Given the description of an element on the screen output the (x, y) to click on. 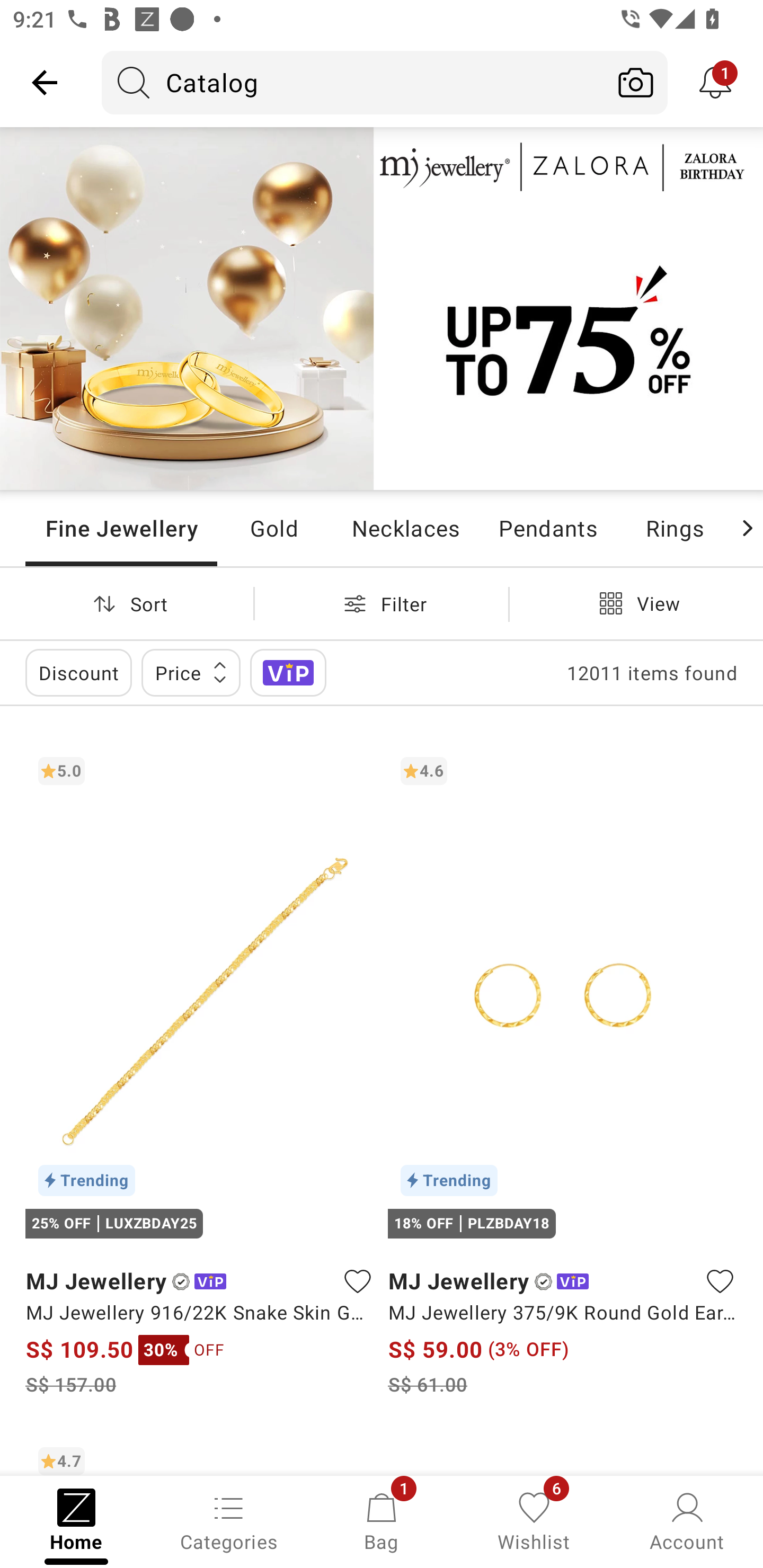
Navigate up (44, 82)
Catalog (352, 82)
Gold (274, 527)
Necklaces (405, 527)
Pendants (548, 527)
Rings (674, 527)
Sort (126, 603)
Filter (381, 603)
View (636, 603)
Discount (78, 672)
Price (190, 672)
Categories (228, 1519)
Bag, 1 new notification Bag (381, 1519)
Wishlist, 6 new notifications Wishlist (533, 1519)
Account (686, 1519)
